Given the description of an element on the screen output the (x, y) to click on. 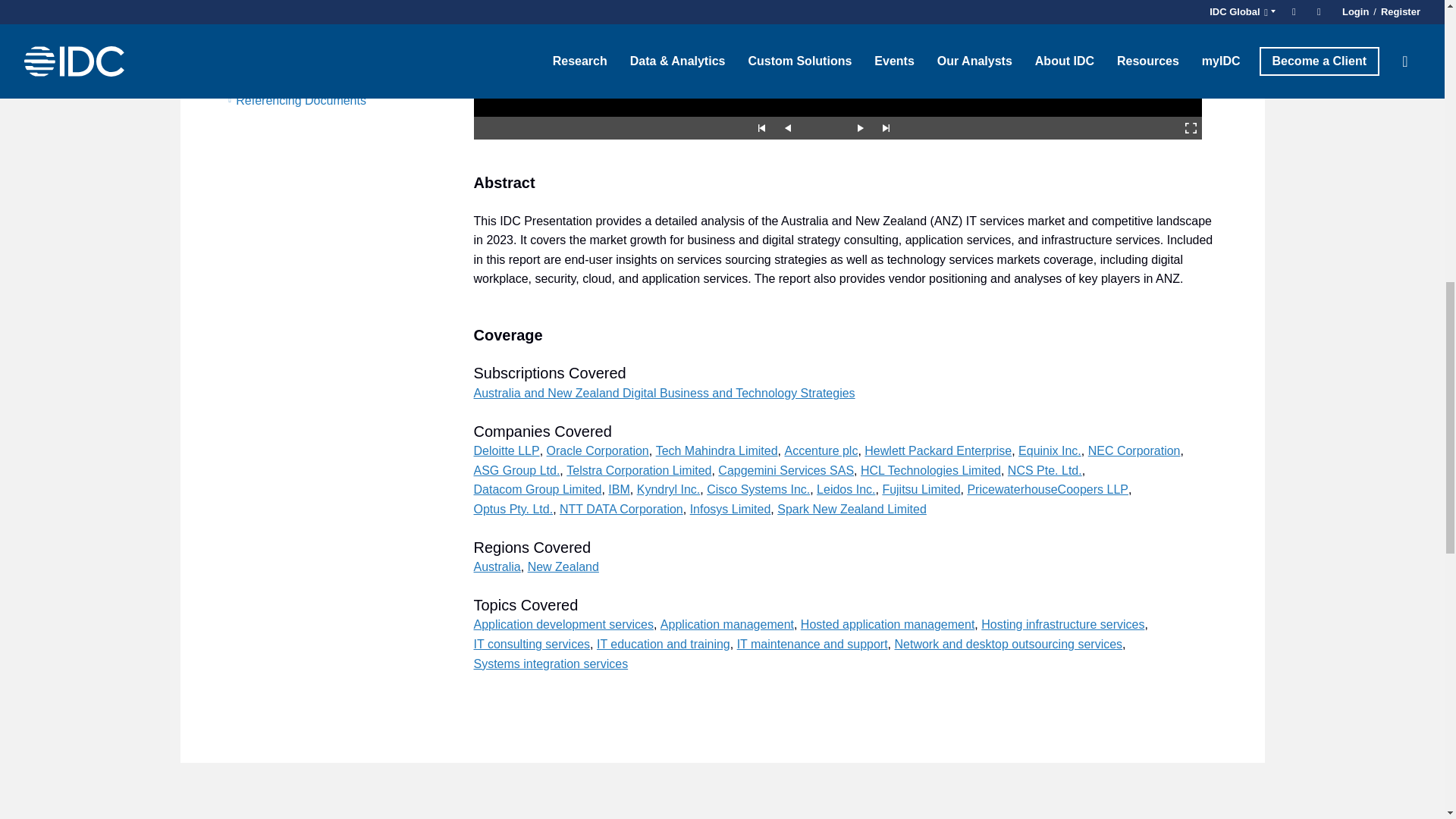
Next slide (860, 127)
Fullscreen (1190, 127)
Skip to start (761, 127)
Previous slide (787, 127)
Skip to end (886, 127)
